Given the description of an element on the screen output the (x, y) to click on. 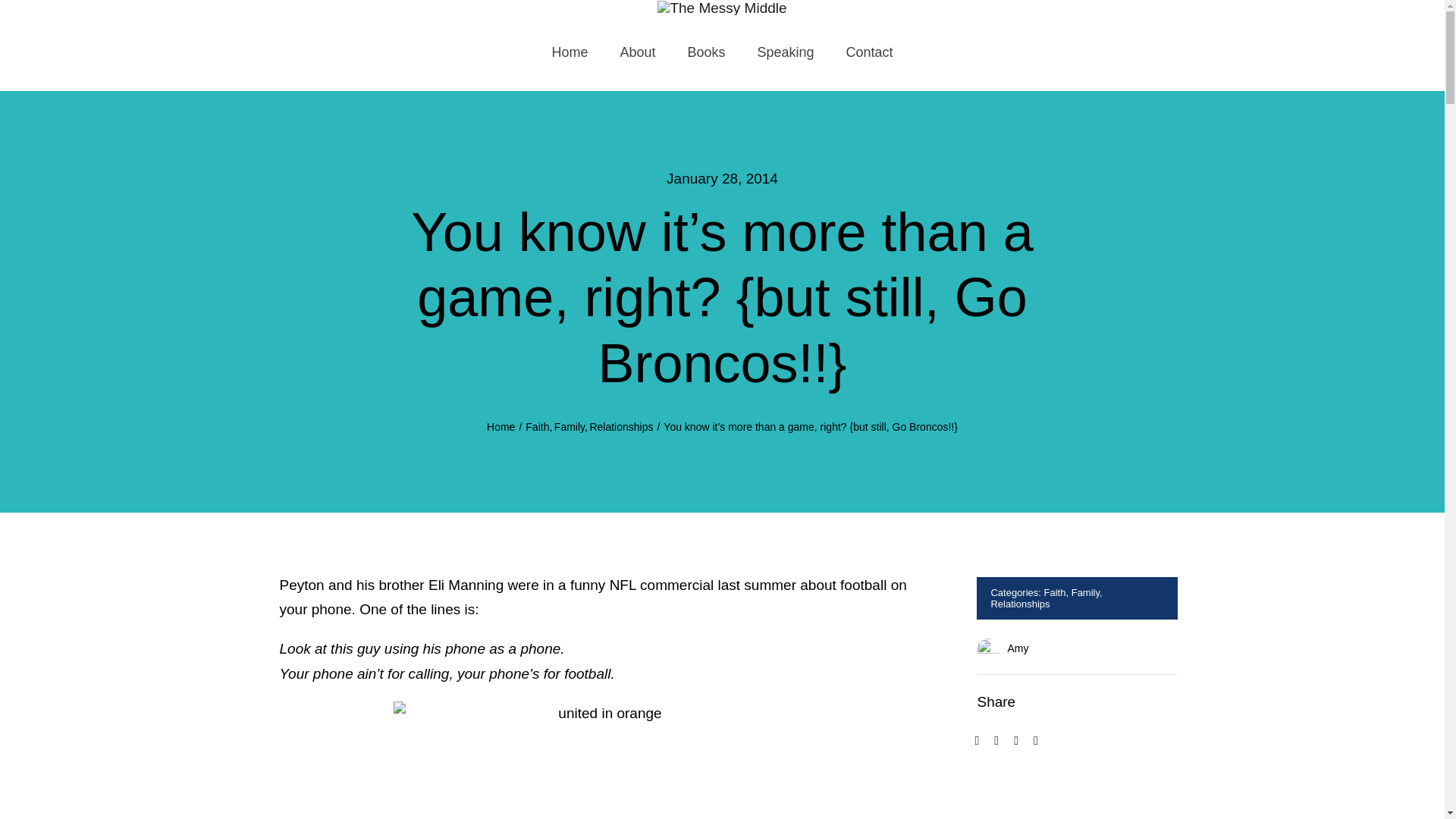
Speaking (785, 53)
Family (569, 426)
Family (1085, 592)
Facebook (976, 740)
Faith (536, 426)
Reddit (1016, 740)
Contact (869, 53)
Books (705, 53)
Home (500, 426)
Relationships (1019, 603)
